Given the description of an element on the screen output the (x, y) to click on. 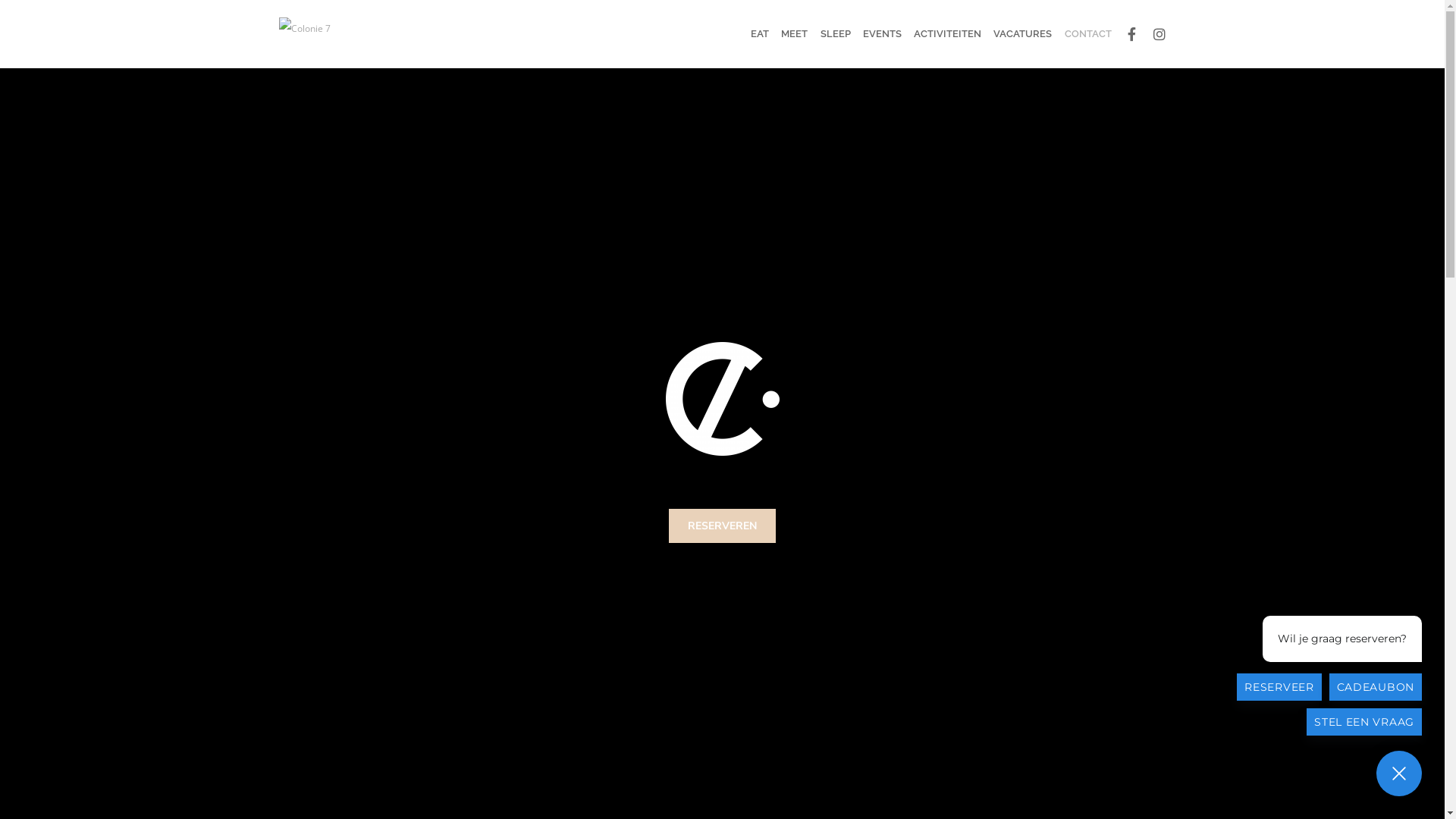
SLEEP Element type: text (834, 34)
MEET Element type: text (794, 34)
EAT Element type: text (759, 34)
RESERVEREN Element type: text (721, 525)
RESERVEREN Element type: text (761, 627)
Hesley Element type: text (746, 786)
info@colonie7.be Element type: text (324, 673)
EVENTS Element type: text (881, 34)
VACATURES Element type: text (759, 673)
CONTACT Element type: text (1085, 34)
SLEEP Element type: text (746, 605)
MEET Element type: text (746, 582)
ALGEMENE VOORWAARDEN Element type: text (1021, 696)
EVENTS Element type: text (750, 650)
VACATURES Element type: text (1022, 34)
SPORTKLEDIJ Element type: text (761, 696)
CONTACT Element type: text (755, 718)
ACTIVITEITEN Element type: text (947, 34)
EAT Element type: text (742, 559)
